Given the description of an element on the screen output the (x, y) to click on. 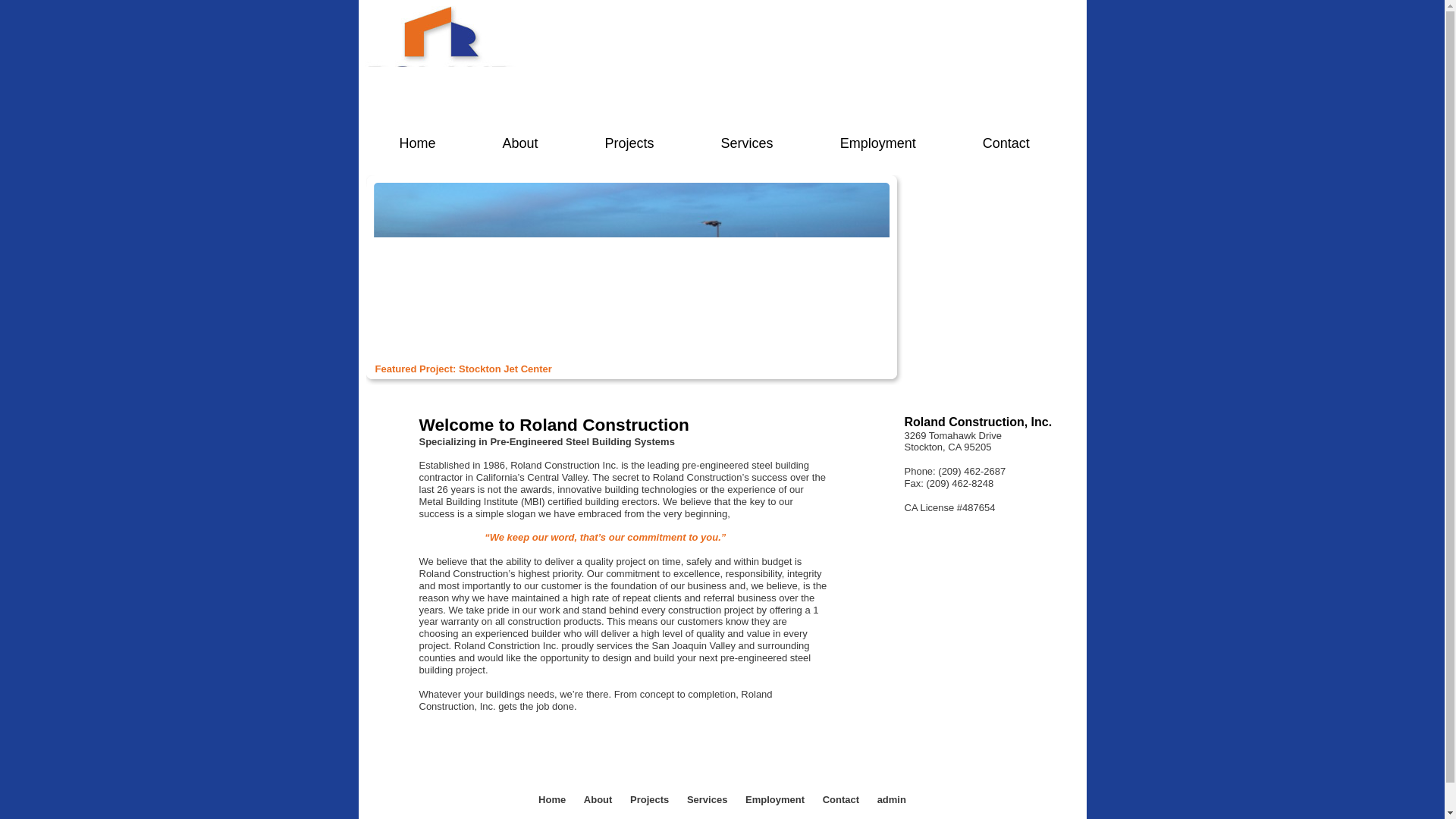
About (599, 799)
Home (416, 137)
Projects (629, 137)
Contact (1005, 137)
Services (746, 137)
Home (553, 799)
Projects (651, 799)
Contact (842, 799)
About (520, 137)
Employment (776, 799)
Services (708, 799)
admin (891, 799)
Employment (877, 137)
